Given the description of an element on the screen output the (x, y) to click on. 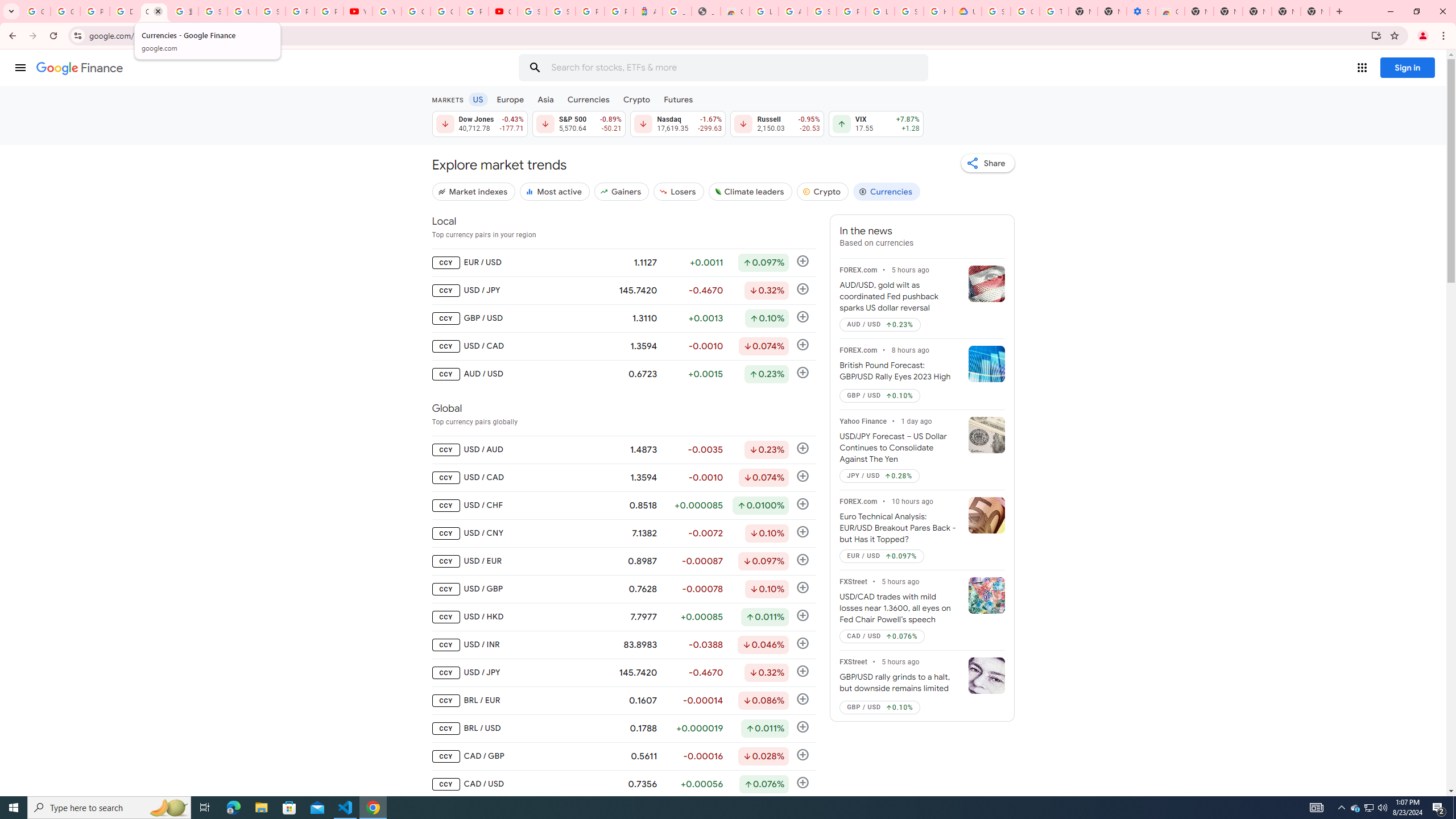
CAD / USD Up by 0.074% (883, 635)
Main menu (20, 67)
Search for stocks, ETFs & more (724, 67)
CCY CAD / GBP 0.5611 -0.00016 Down by 0.025% Follow (623, 756)
Nasdaq 17,619.35 Down by 1.67% -299.63 (678, 123)
Content Creator Programs & Opportunities - YouTube Creators (502, 11)
Crypto (636, 99)
